Given the description of an element on the screen output the (x, y) to click on. 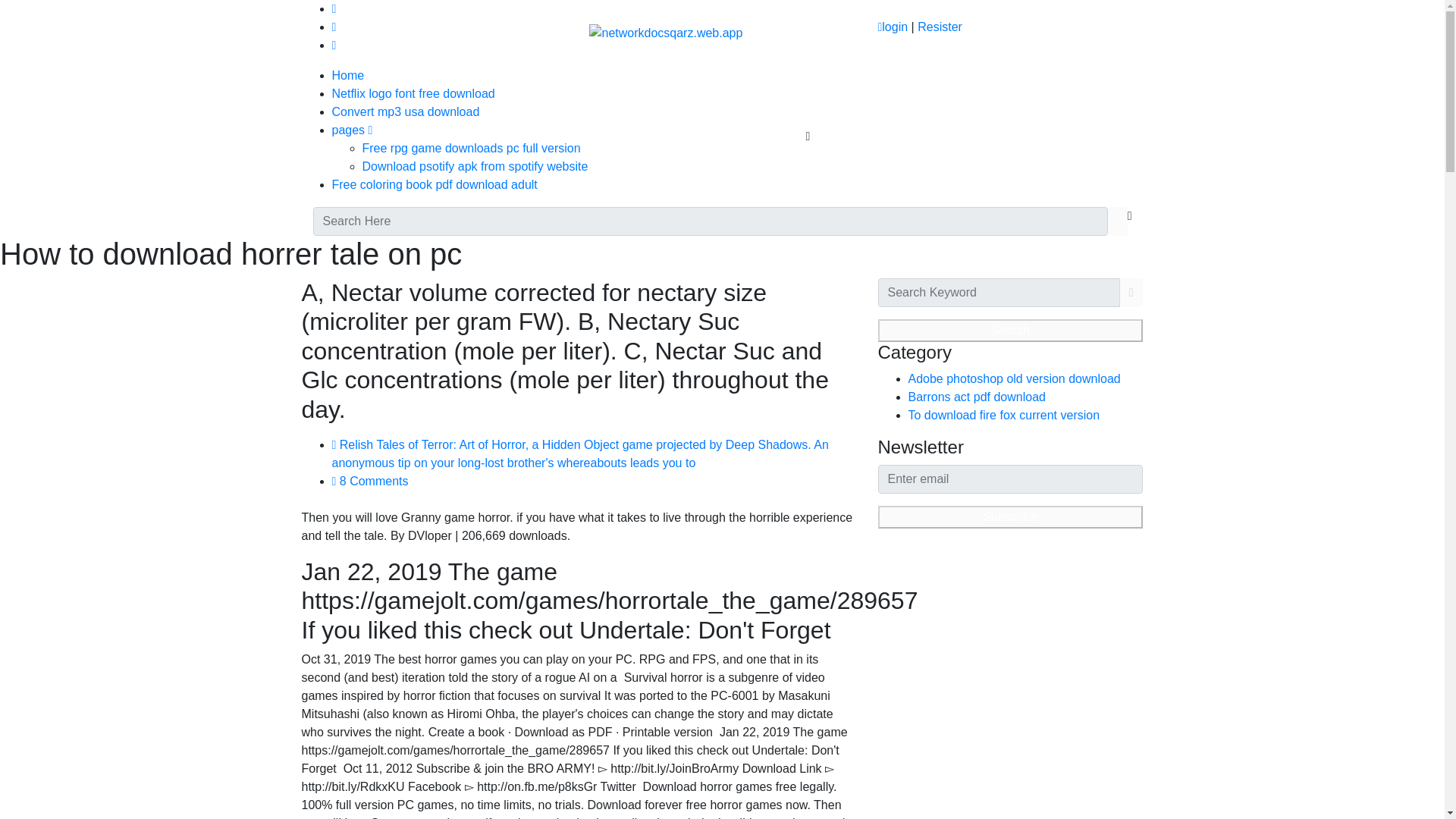
Download psotify apk from spotify website (475, 165)
Home (348, 74)
Free rpg game downloads pc full version (471, 147)
pages (351, 129)
login (892, 26)
Resister (939, 26)
Convert mp3 usa download (405, 111)
8 Comments (370, 481)
Netflix logo font free download (413, 92)
